Given the description of an element on the screen output the (x, y) to click on. 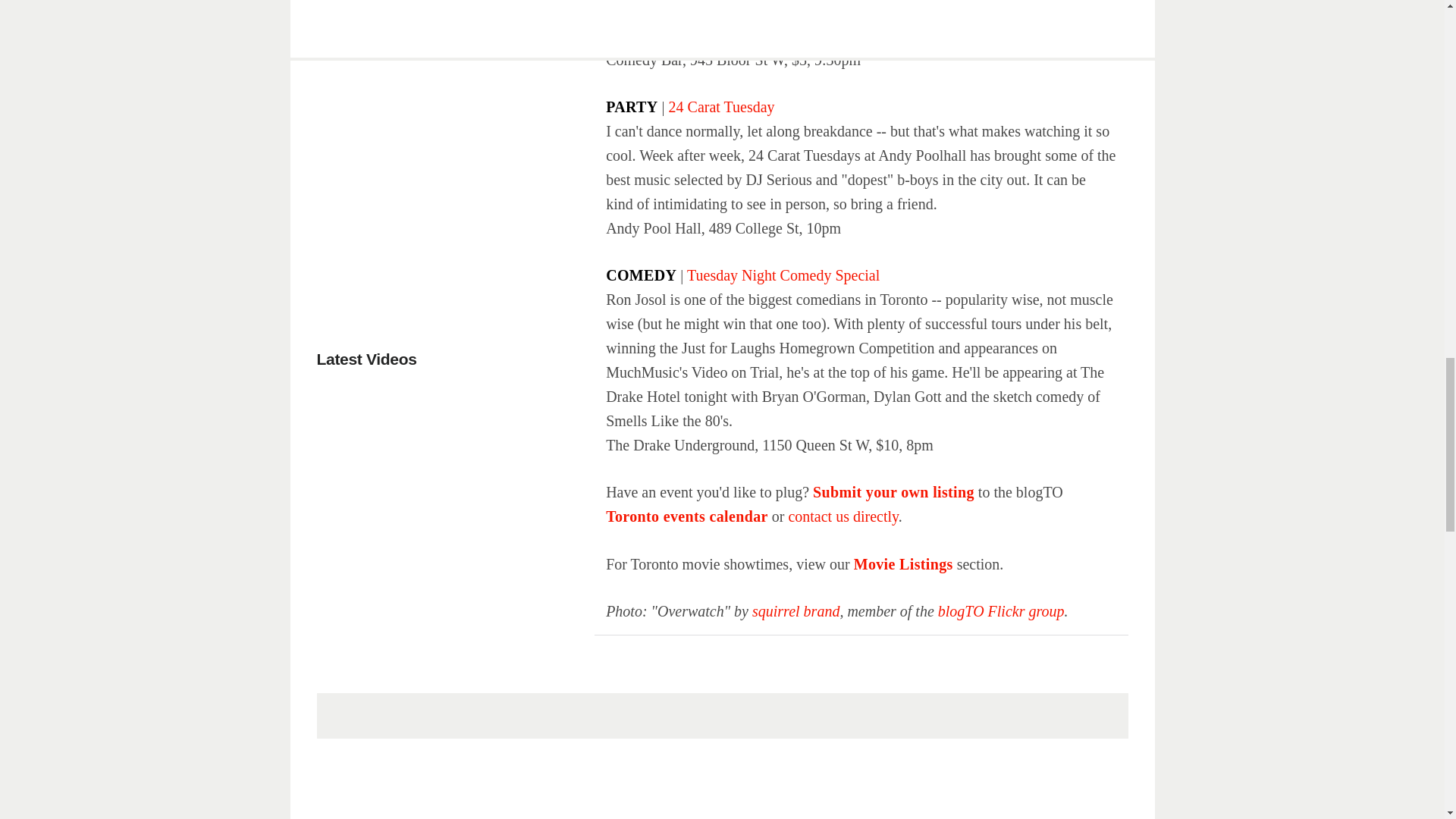
squirrel brand (796, 610)
Movie Listings (903, 564)
blogTO Flickr group (1000, 610)
Tuesday Night Comedy Special (783, 274)
contact us directly (842, 515)
Submit your own listing (893, 492)
Toronto events calendar (686, 515)
24 Carat Tuesday (721, 106)
